Given the description of an element on the screen output the (x, y) to click on. 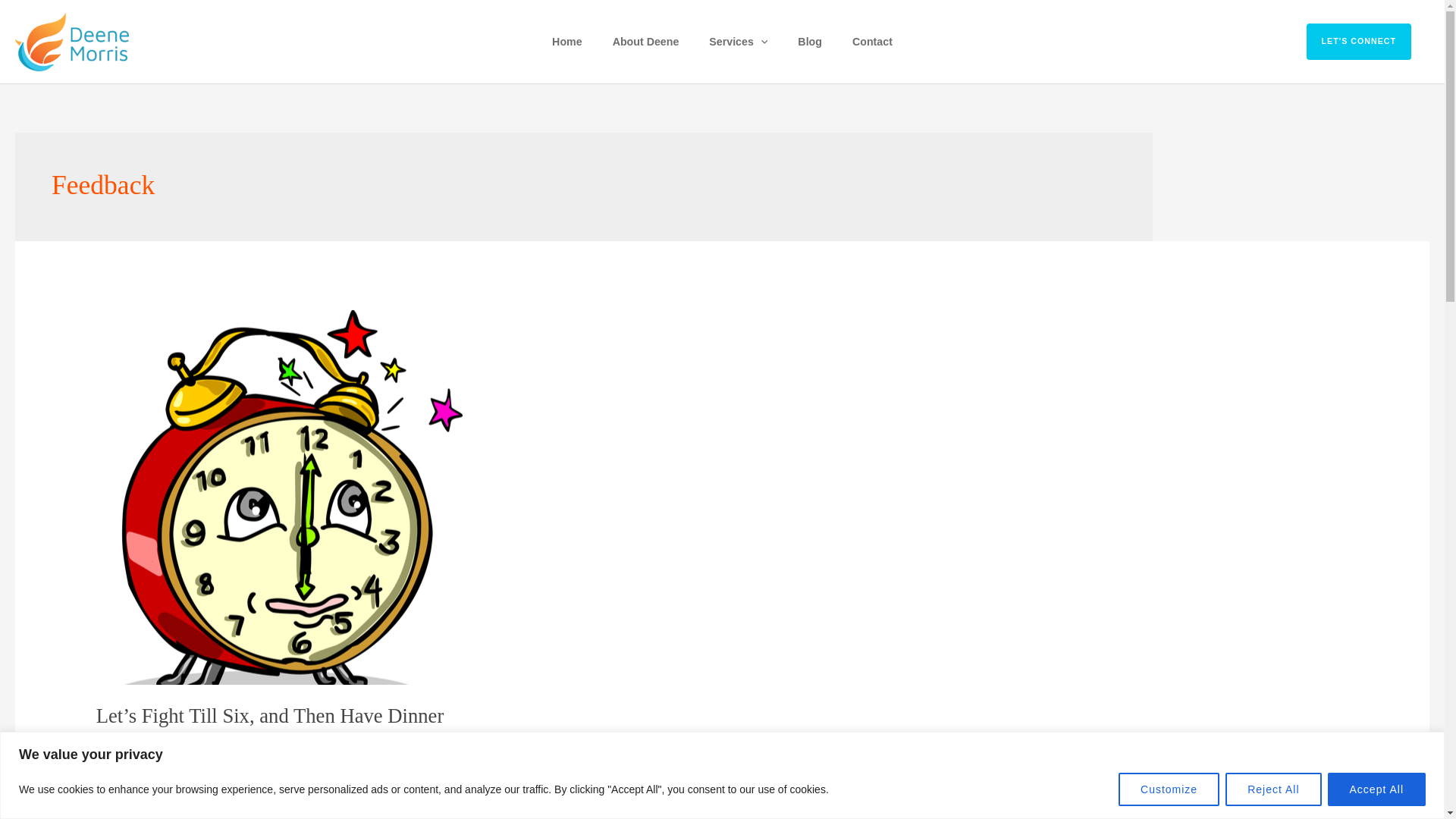
Home (566, 41)
About Deene (645, 41)
View all posts by Deene Morris (276, 741)
Services (738, 41)
Accept All (1376, 788)
Blog (810, 41)
Contact (872, 41)
Customize (1169, 788)
Reject All (1272, 788)
LET'S CONNECT (1367, 41)
